Given the description of an element on the screen output the (x, y) to click on. 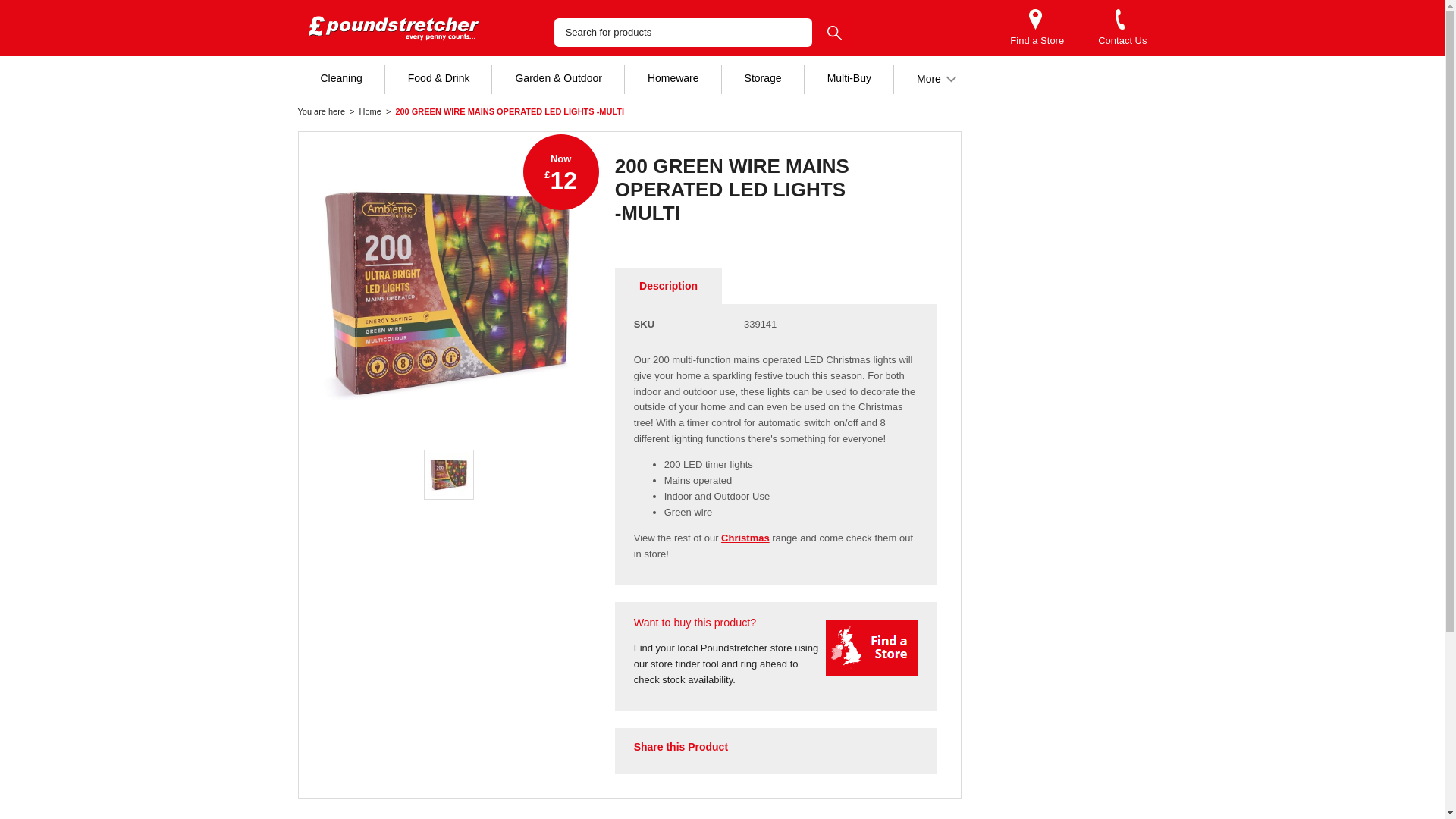
Homeware (673, 77)
Find a Store (1037, 41)
SEARCH (833, 32)
Cleaning (340, 77)
Find a Store (1037, 41)
Contact Us (1122, 41)
Go to Home Page (370, 111)
Search (833, 32)
Advertisement (1067, 206)
200 GREEN WIRE MAINS OPERATED LED LIGHTS -MULTI (448, 291)
Poundstretcher (398, 28)
